Given the description of an element on the screen output the (x, y) to click on. 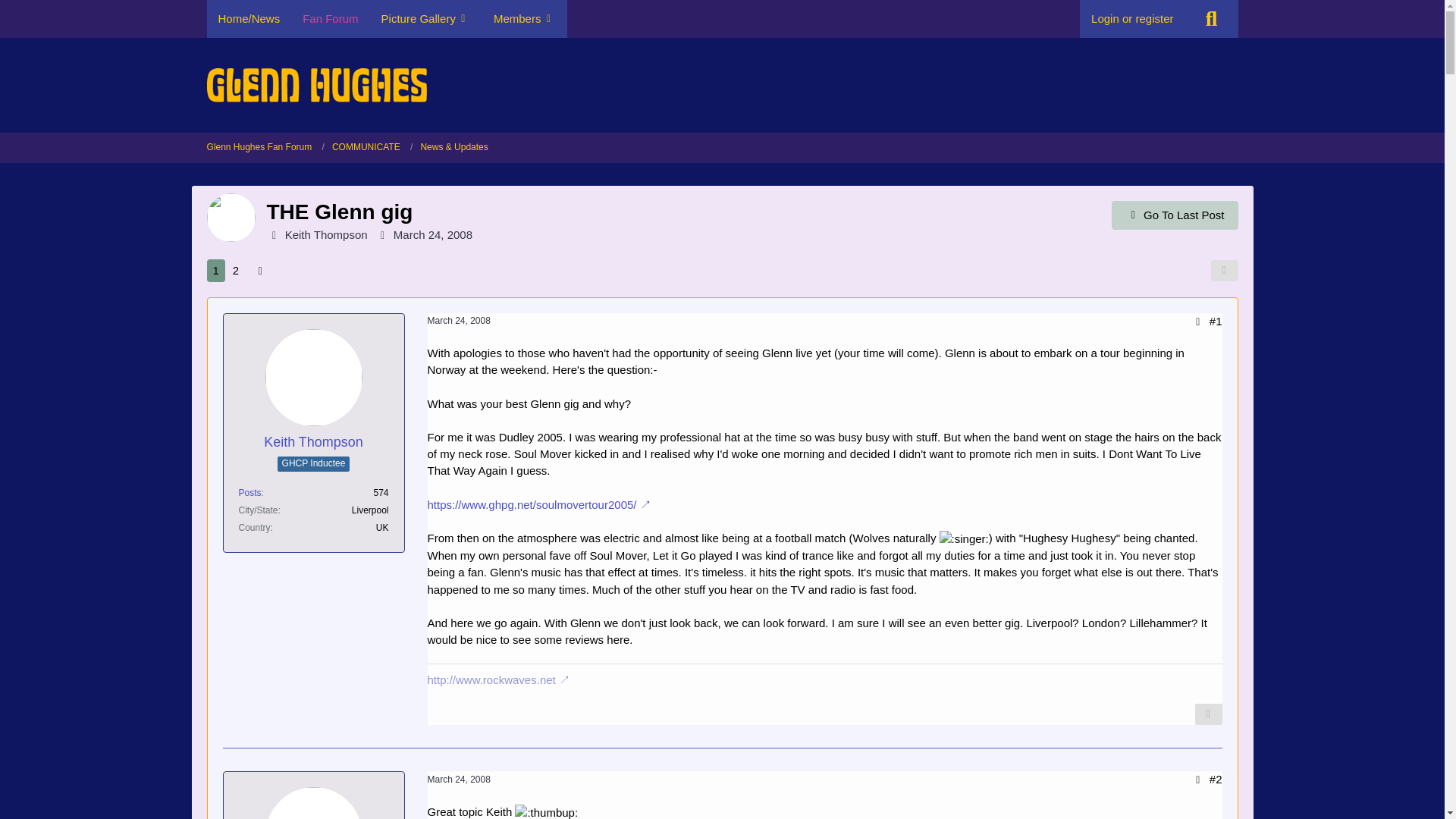
March 24, 2008March 24, 2008 at 7:10 AM (459, 320)
Fan Forum (330, 18)
Keith Thompson (326, 234)
Glenn Hughes Fan Forum (264, 147)
March 24, 2008March 24, 2008 at 7:10 AM (432, 234)
Keith Thompson (312, 442)
Login or register (1132, 18)
COMMUNICATE (371, 147)
Posts (249, 492)
COMMUNICATE (365, 147)
